Given the description of an element on the screen output the (x, y) to click on. 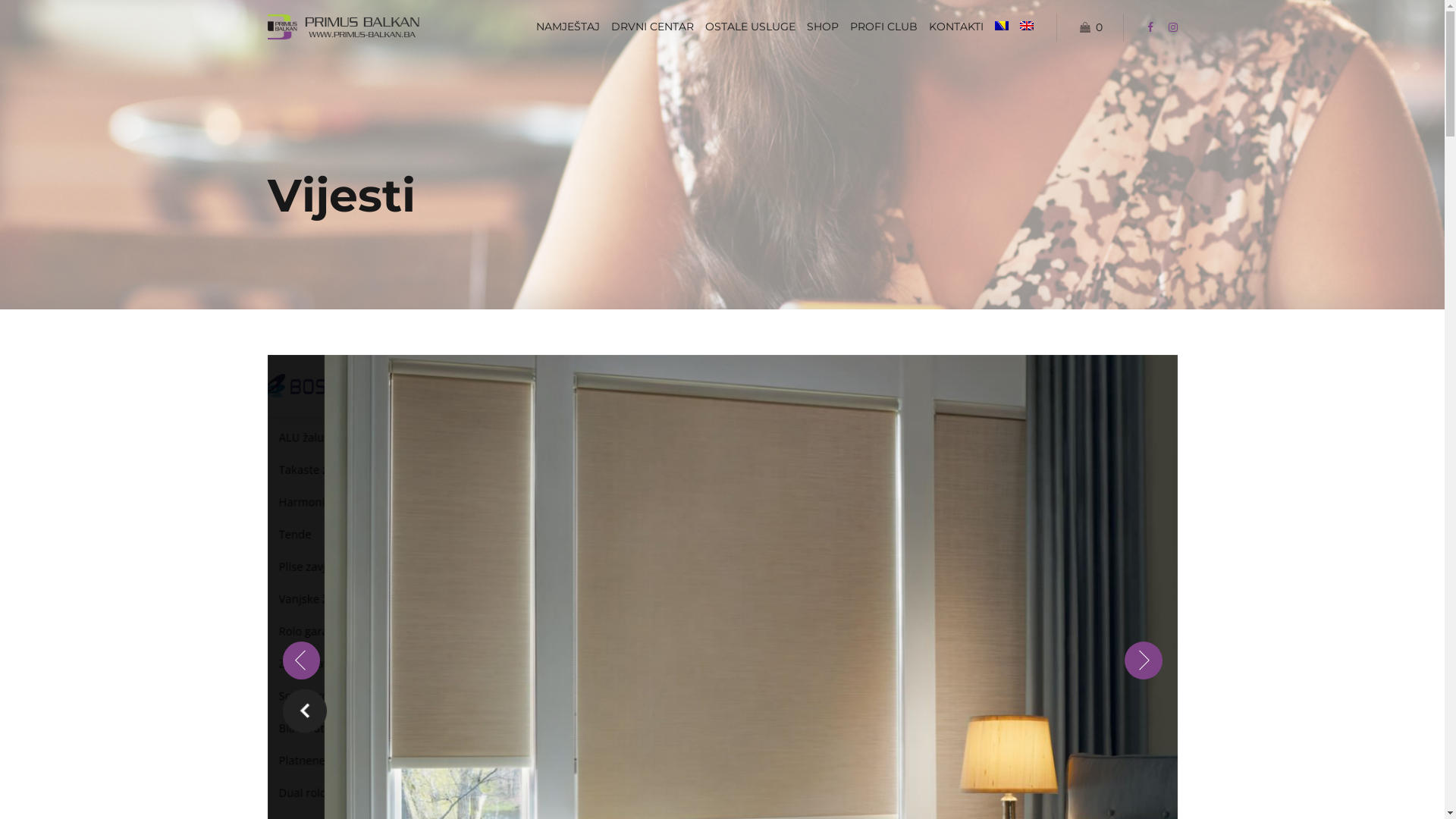
SHOP Element type: text (822, 26)
PROFI CLUB Element type: text (883, 26)
OSTALE USLUGE Element type: text (750, 26)
DRVNI CENTAR Element type: text (652, 26)
KONTAKTI Element type: text (955, 26)
